Given the description of an element on the screen output the (x, y) to click on. 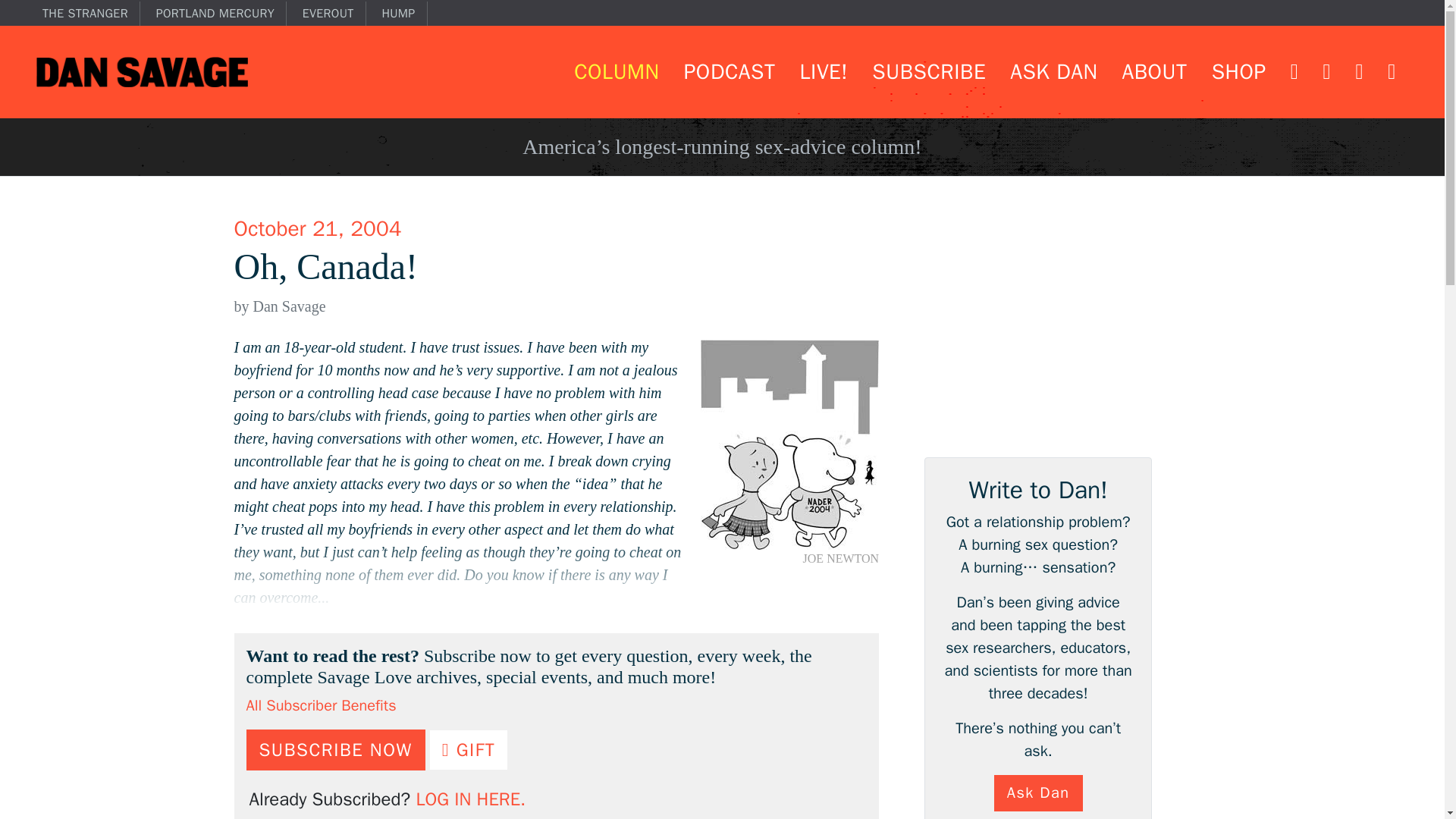
COLUMN (616, 71)
Dan Savage (141, 71)
EverOut (334, 13)
All Subscriber Benefits (321, 705)
ASK DAN (1053, 71)
3rd party ad content (1037, 343)
Subscribe (928, 71)
Portland Mercury (220, 13)
GIFT (468, 749)
Ask Dan (1053, 71)
